Given the description of an element on the screen output the (x, y) to click on. 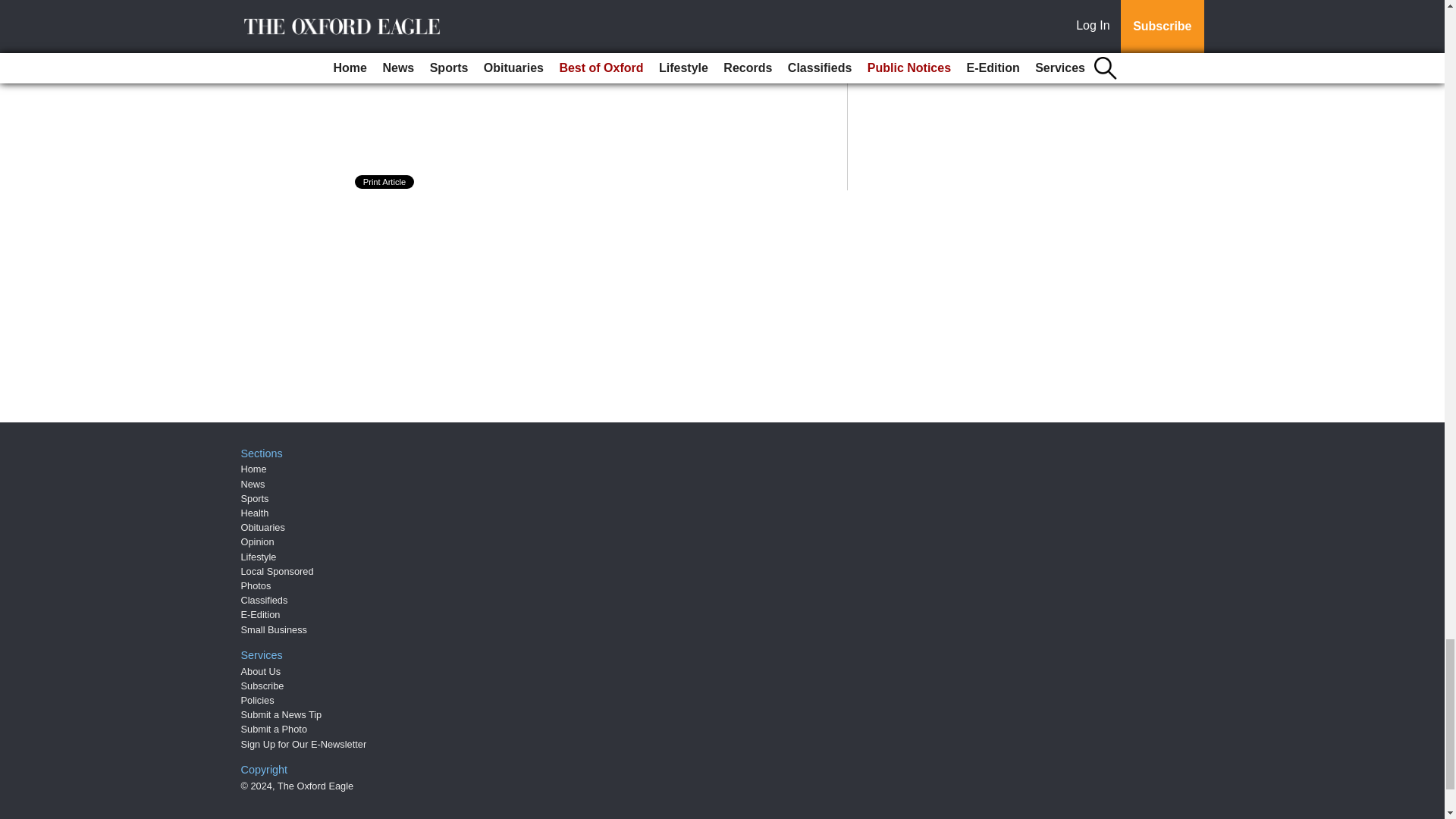
Health (255, 512)
Sports (255, 498)
News (252, 483)
Print Article (384, 182)
Home (253, 469)
